Given the description of an element on the screen output the (x, y) to click on. 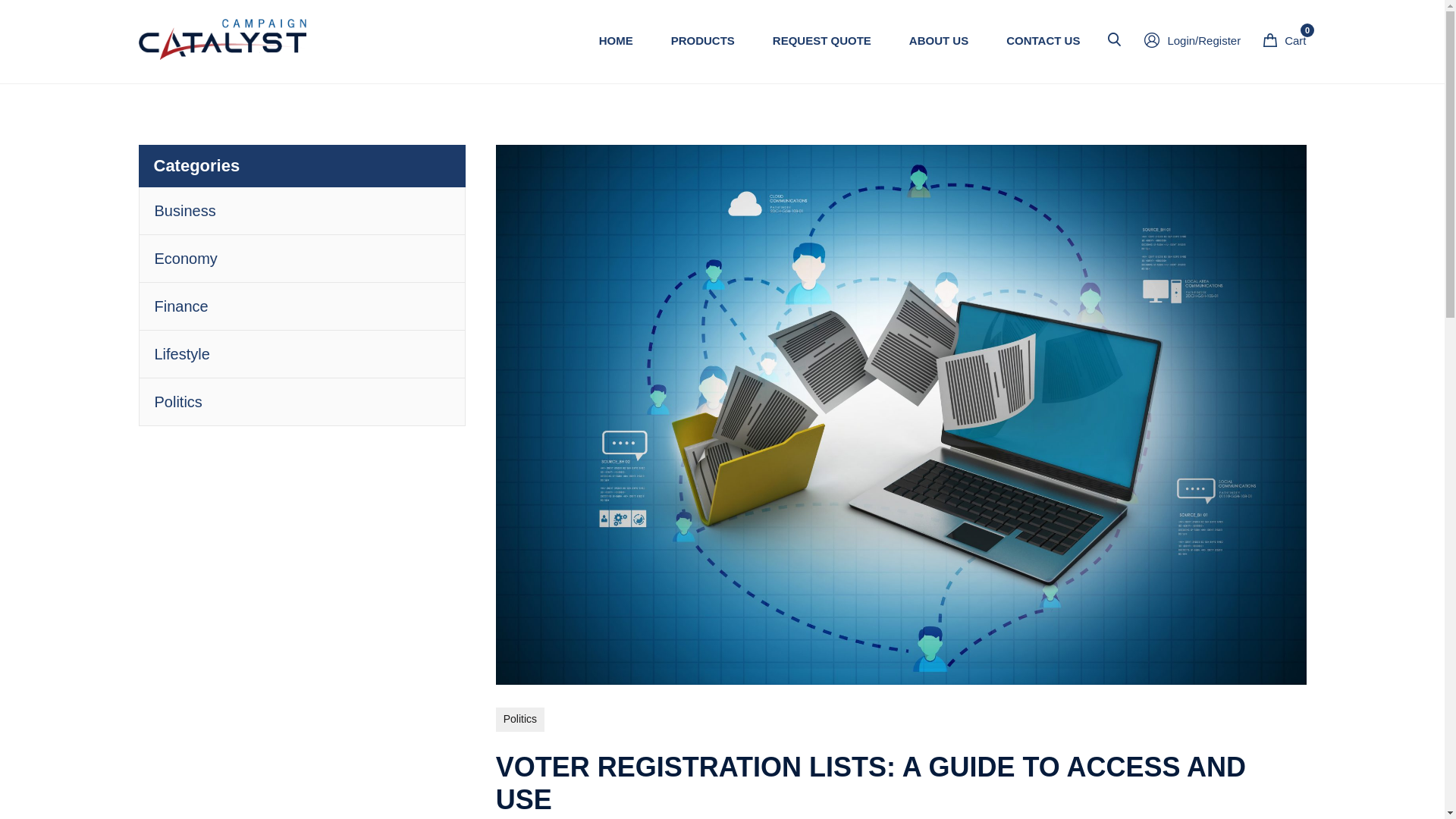
Lifestyle (181, 353)
Politics (520, 719)
CONTACT US (1284, 40)
View your shopping cart (1043, 41)
Economy (1284, 40)
Account (185, 258)
Politics (1192, 40)
PRODUCTS (178, 401)
ABOUT US (703, 41)
